Given the description of an element on the screen output the (x, y) to click on. 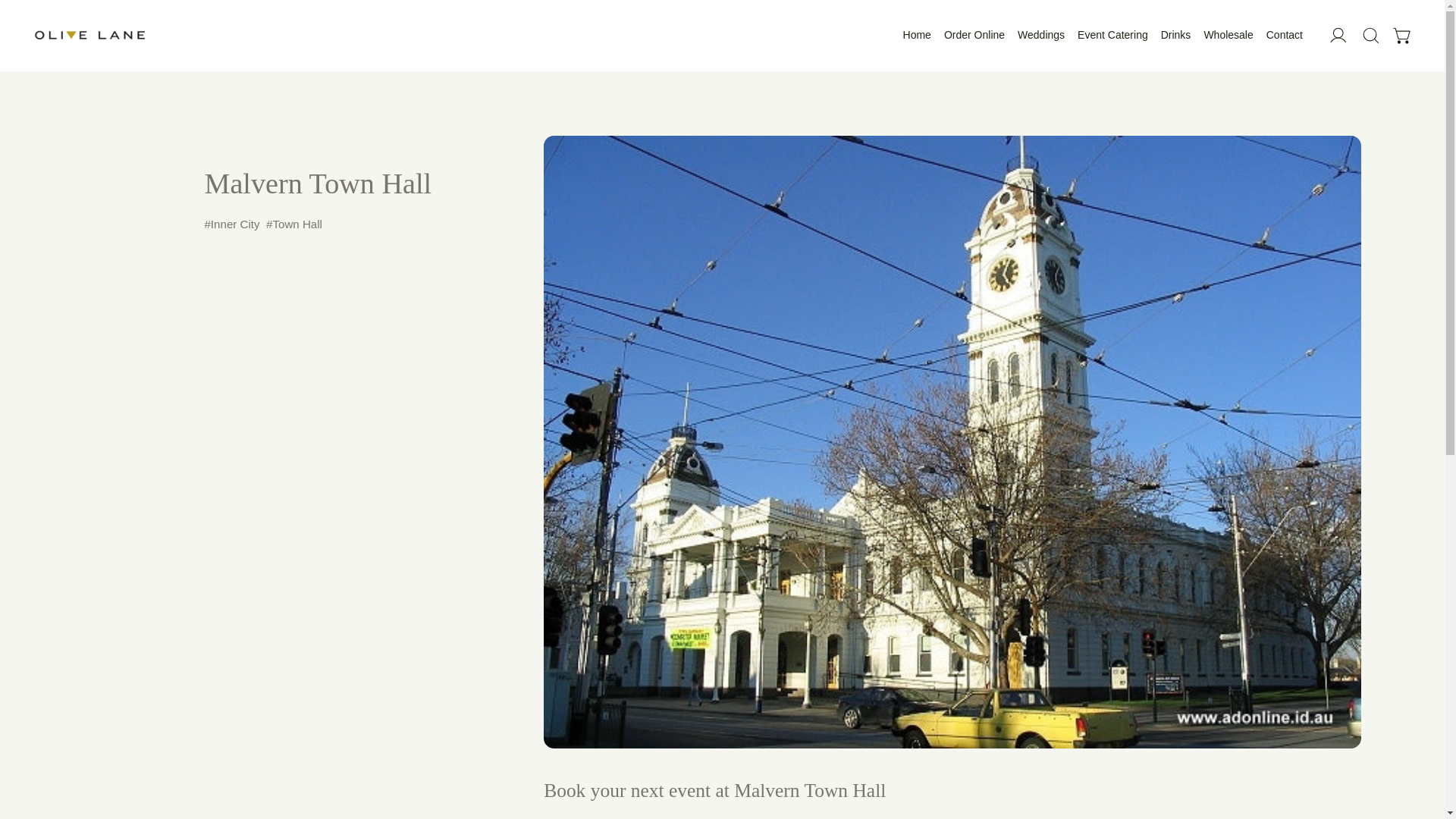
Order Online (973, 34)
Home (916, 34)
Contact (1284, 34)
Event Catering (1112, 34)
Drinks (1175, 34)
Wholesale (1228, 34)
Weddings (1040, 34)
